Given the description of an element on the screen output the (x, y) to click on. 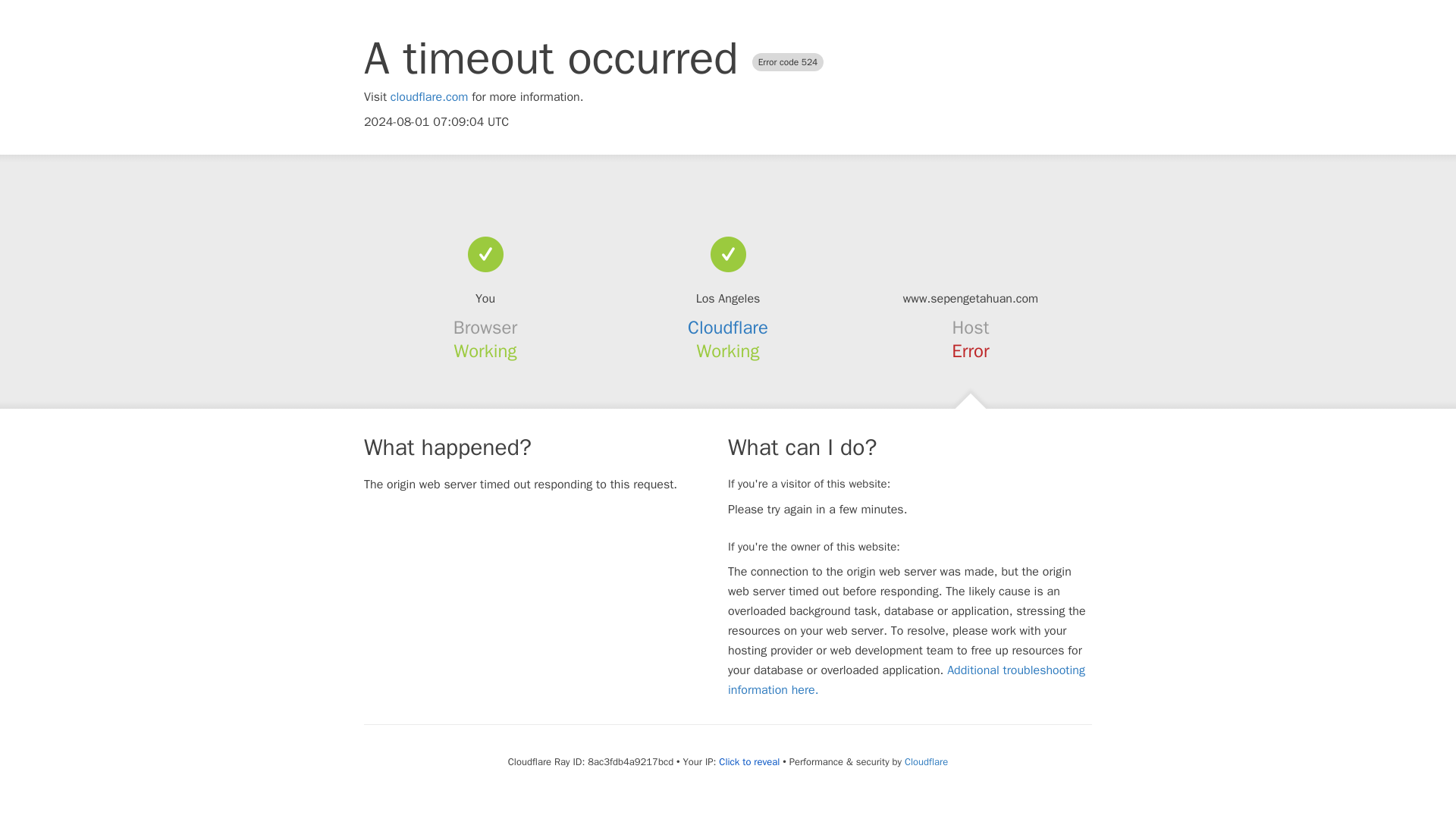
Additional troubleshooting information here. (906, 679)
Cloudflare (925, 761)
cloudflare.com (429, 96)
Click to reveal (748, 762)
Cloudflare (727, 327)
